Given the description of an element on the screen output the (x, y) to click on. 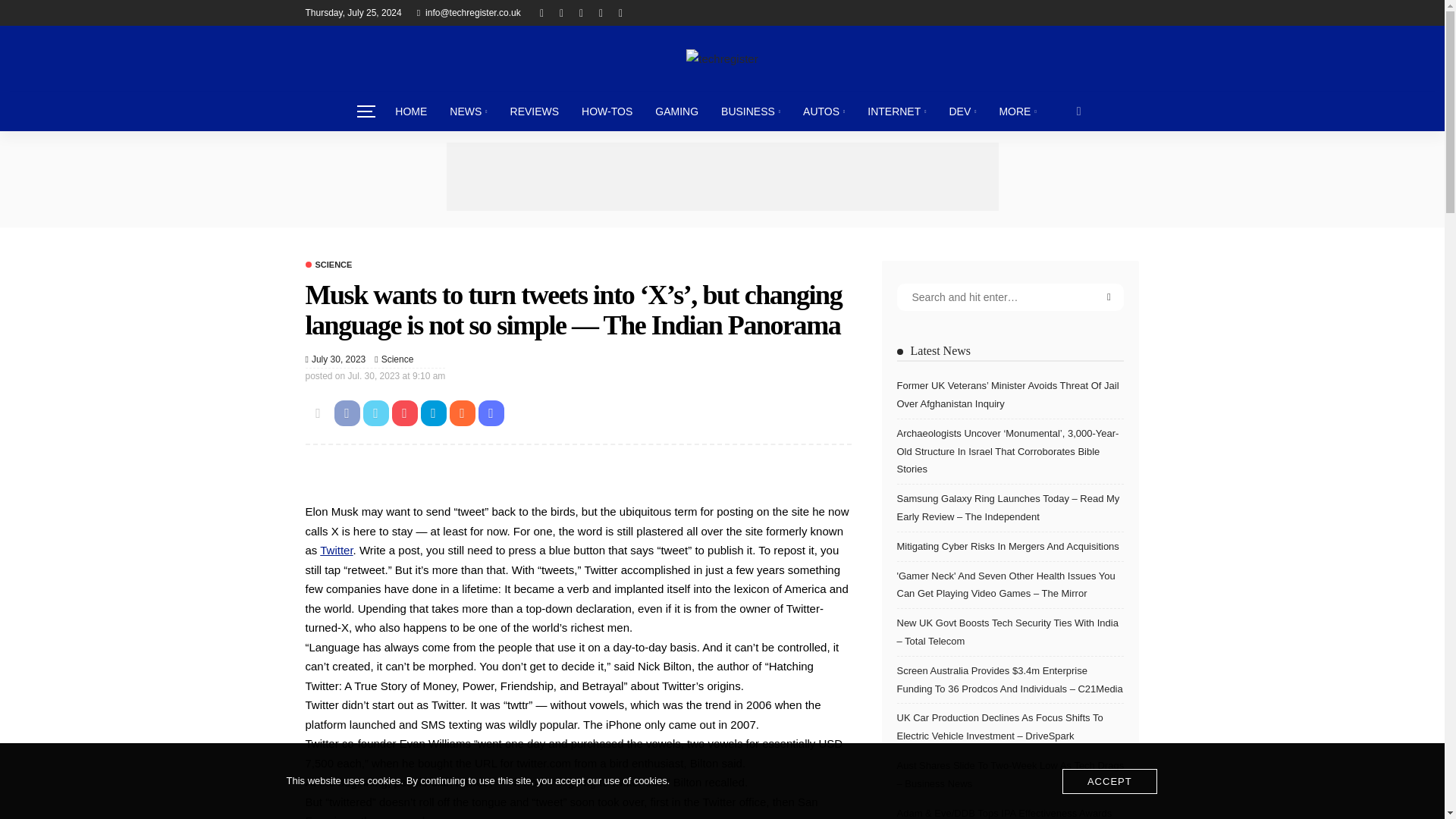
facebook (541, 12)
search (1079, 111)
linkedin (620, 12)
Science (328, 265)
instagram (601, 12)
twitter (561, 12)
Techregister (721, 58)
pinterest (581, 12)
Science (397, 359)
